Given the description of an element on the screen output the (x, y) to click on. 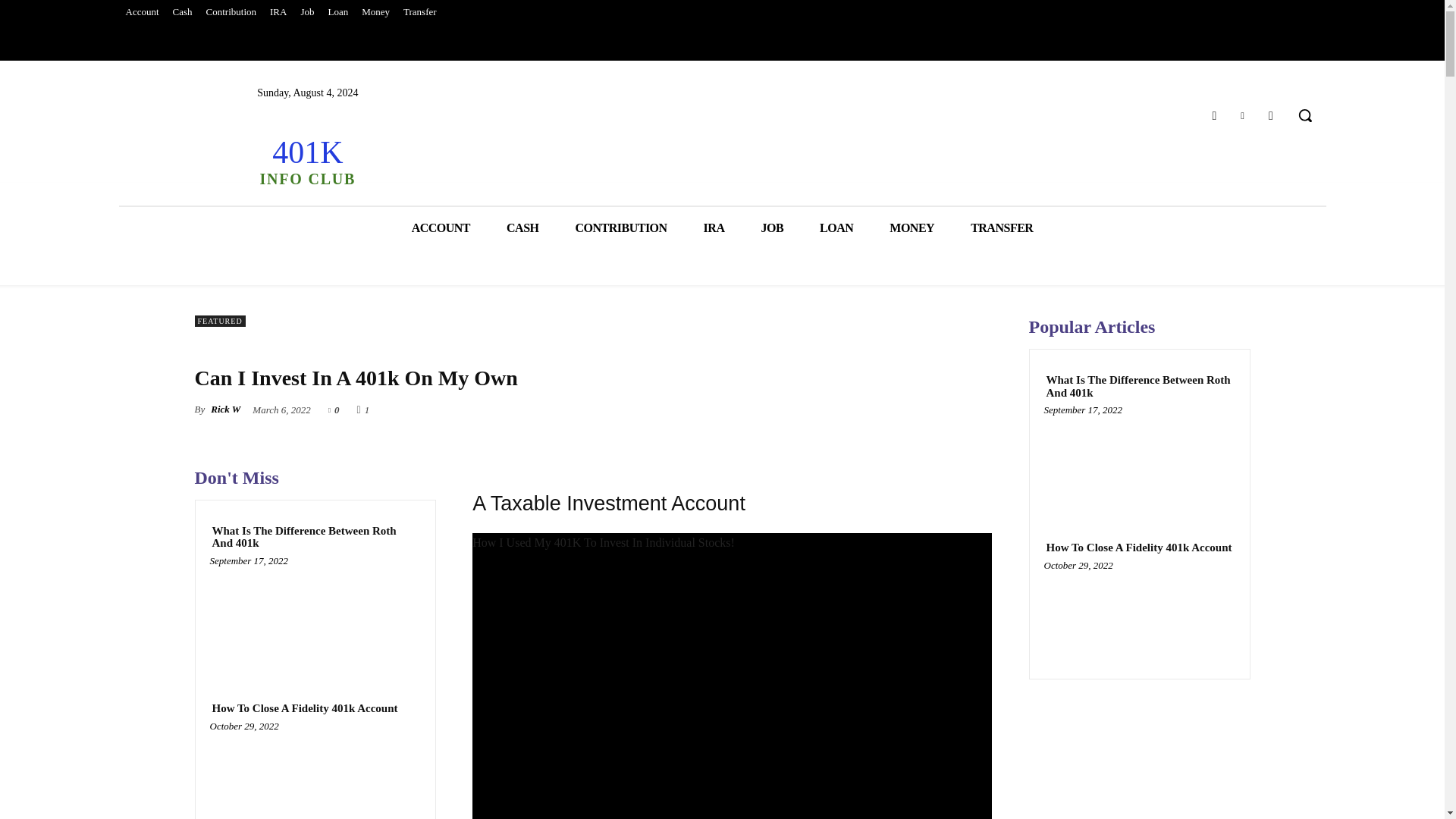
Account (141, 12)
Loan (337, 12)
How To Close A Fidelity 401k Account (314, 774)
Youtube (1270, 115)
IRA (278, 12)
What Is The Difference Between Roth And 401k (314, 616)
MONEY (911, 227)
Transfer (420, 12)
Contribution (231, 12)
JOB (772, 227)
CASH (521, 227)
IRA (713, 227)
LOAN (836, 227)
Job (307, 12)
CONTRIBUTION (620, 227)
